Given the description of an element on the screen output the (x, y) to click on. 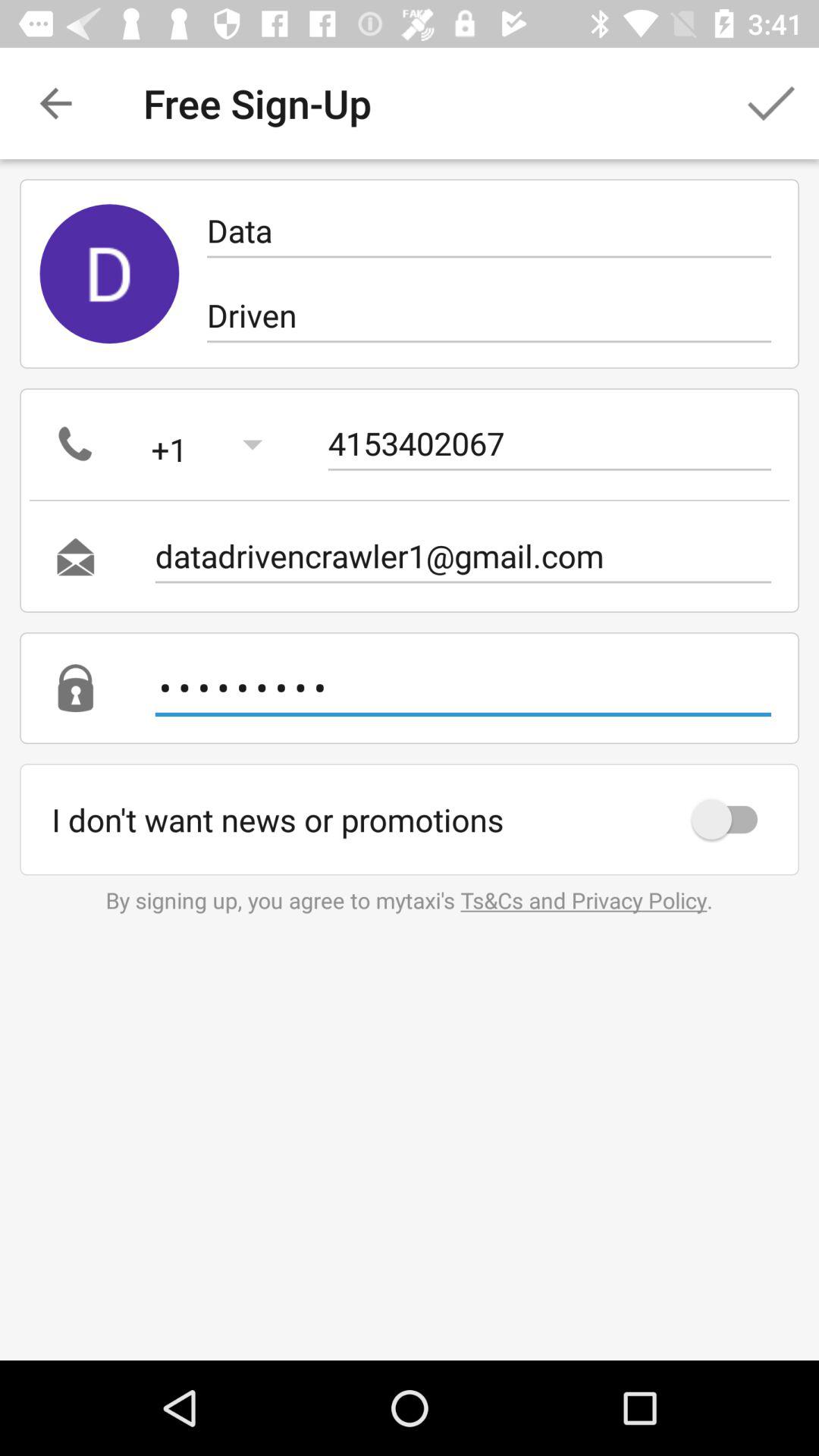
select icon on the right (731, 819)
